Given the description of an element on the screen output the (x, y) to click on. 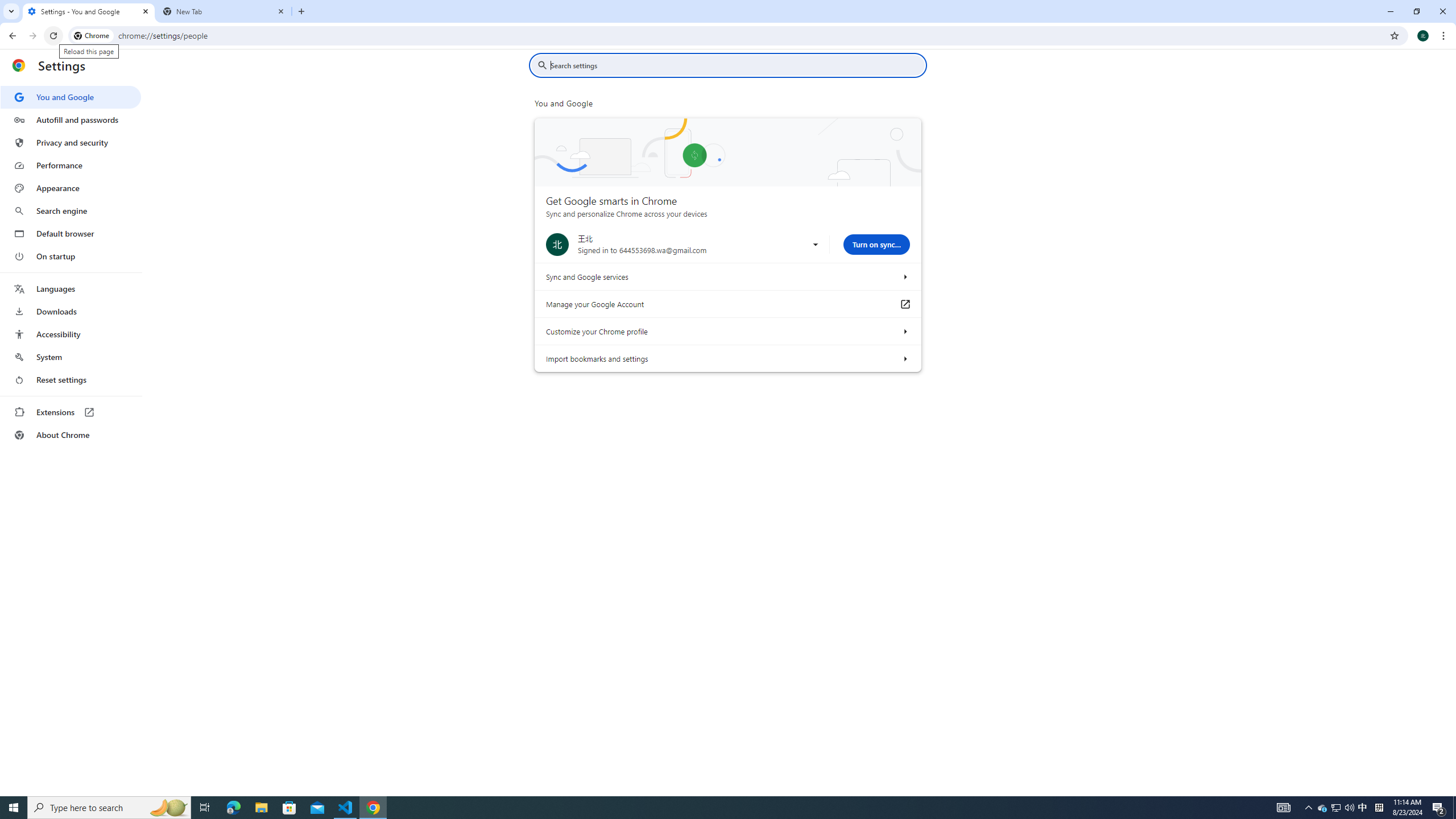
Default browser (70, 233)
Use another account (815, 244)
New Tab (224, 11)
Privacy and security (70, 142)
Downloads (70, 311)
Performance (70, 164)
Accessibility (70, 333)
On startup (70, 255)
Reset settings (70, 379)
